Given the description of an element on the screen output the (x, y) to click on. 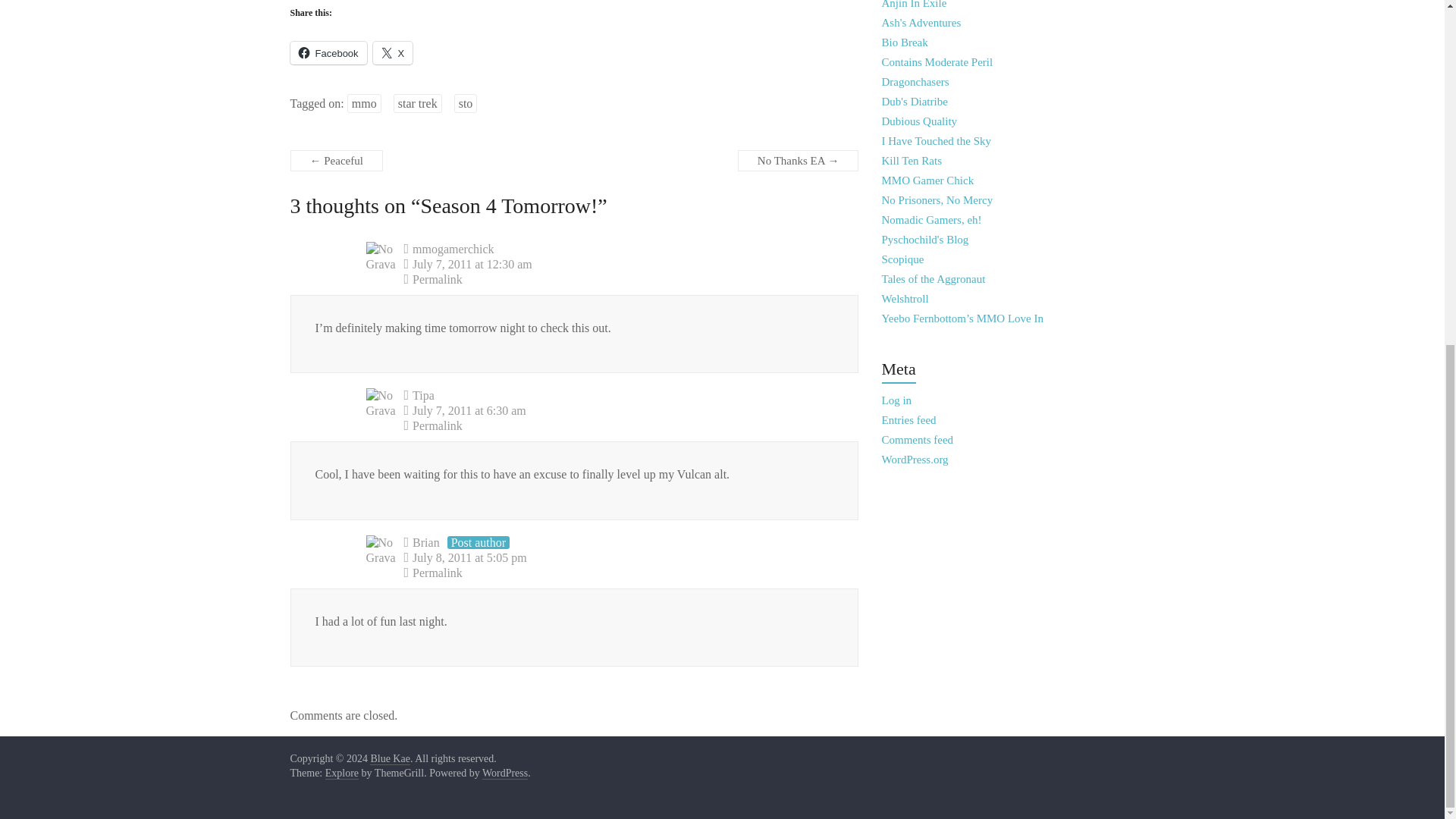
Permalink (612, 426)
X (392, 52)
star trek (417, 103)
Click to share on Facebook (327, 52)
mmo (364, 103)
Tipa (422, 395)
Facebook (327, 52)
Explore (341, 773)
Click to share on X (392, 52)
Great blog and podcast, with nuns! (937, 200)
Permalink (612, 279)
WordPress (504, 773)
sto (465, 103)
Brian (425, 542)
Permalink (612, 572)
